Given the description of an element on the screen output the (x, y) to click on. 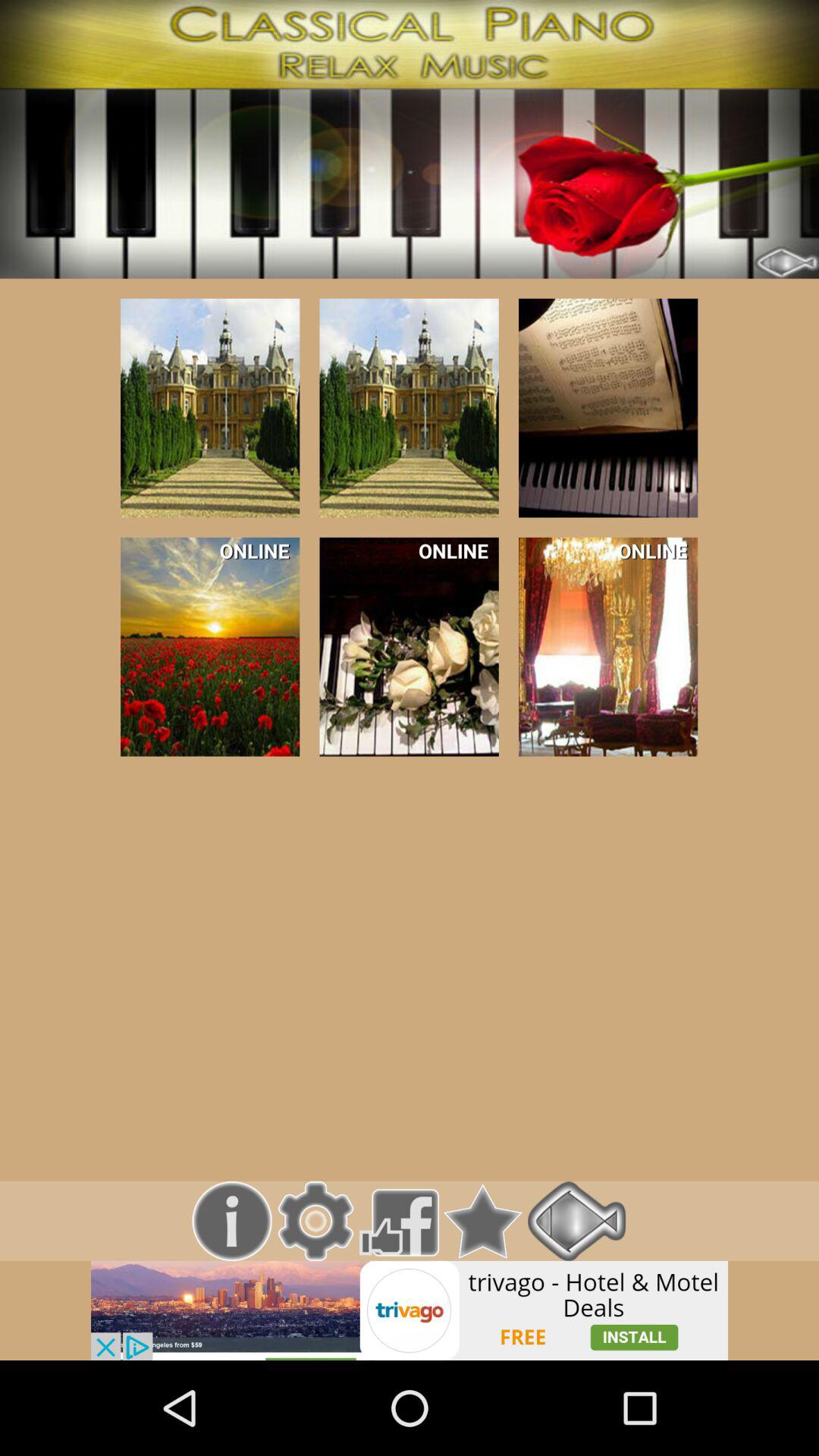
select as favourite (482, 1220)
